Given the description of an element on the screen output the (x, y) to click on. 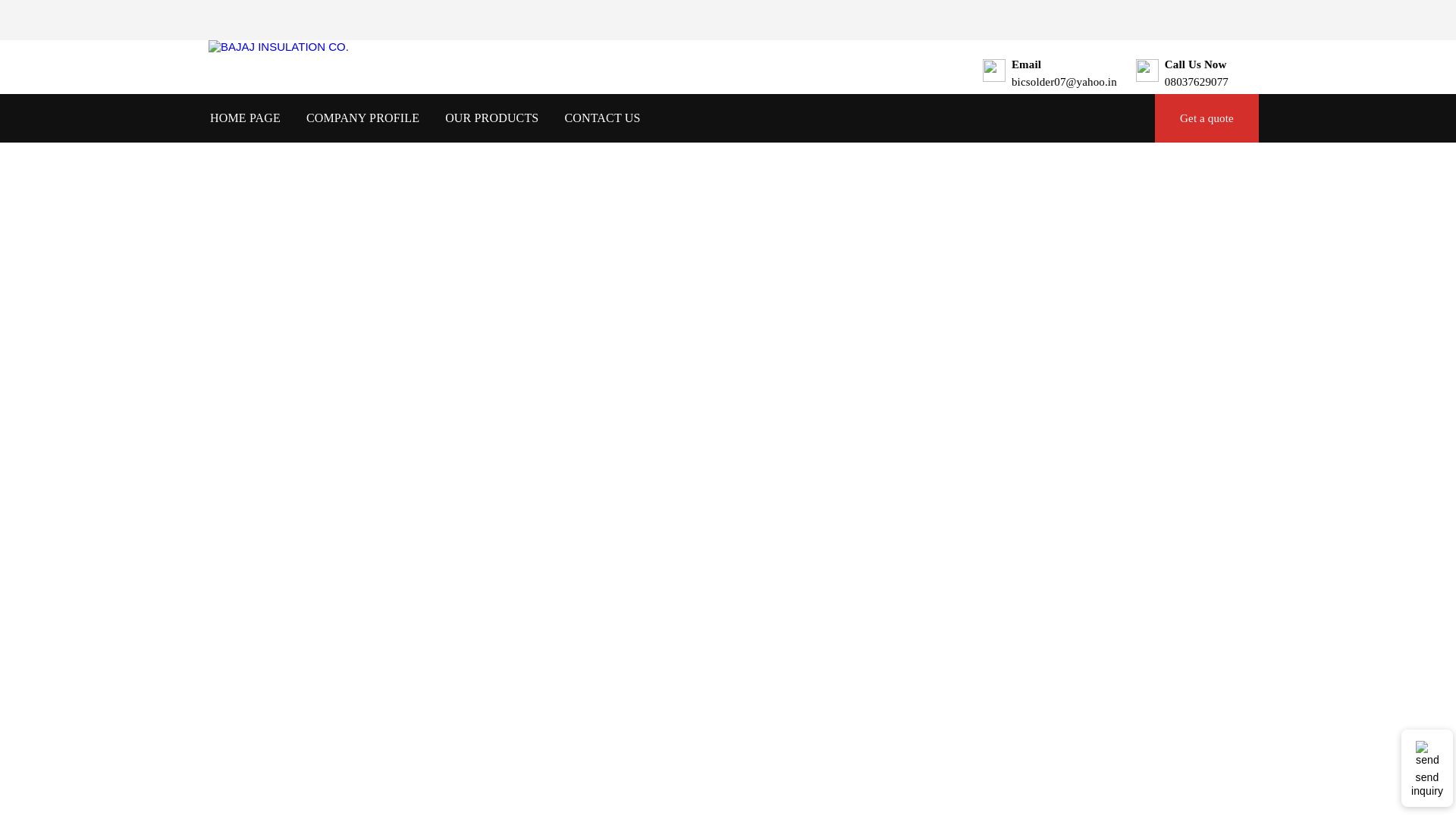
COMPANY PROFILE (363, 118)
OUR PRODUCTS (491, 118)
HOME PAGE (245, 118)
BAJAJ INSULATION CO. (278, 46)
